Given the description of an element on the screen output the (x, y) to click on. 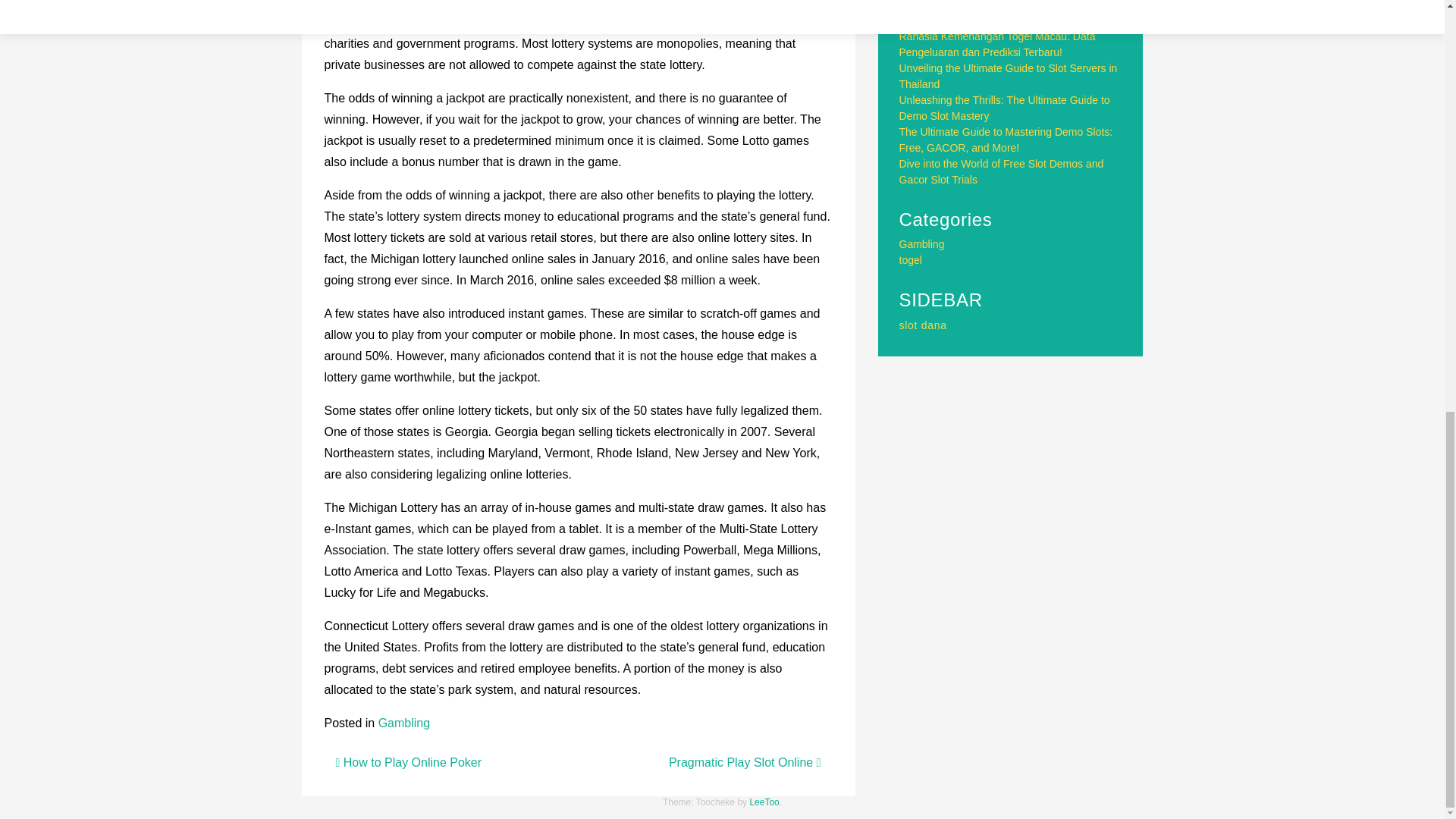
Pragmatic Play Slot Online  (744, 762)
Dive into the World of Free Slot Demos and Gacor Slot Trials (1001, 171)
 How to Play Online Poker (407, 762)
Unveiling the Ultimate Guide to Slot Servers in Thailand (1008, 76)
togel (910, 259)
Gambling (921, 244)
Gambling (403, 722)
